Given the description of an element on the screen output the (x, y) to click on. 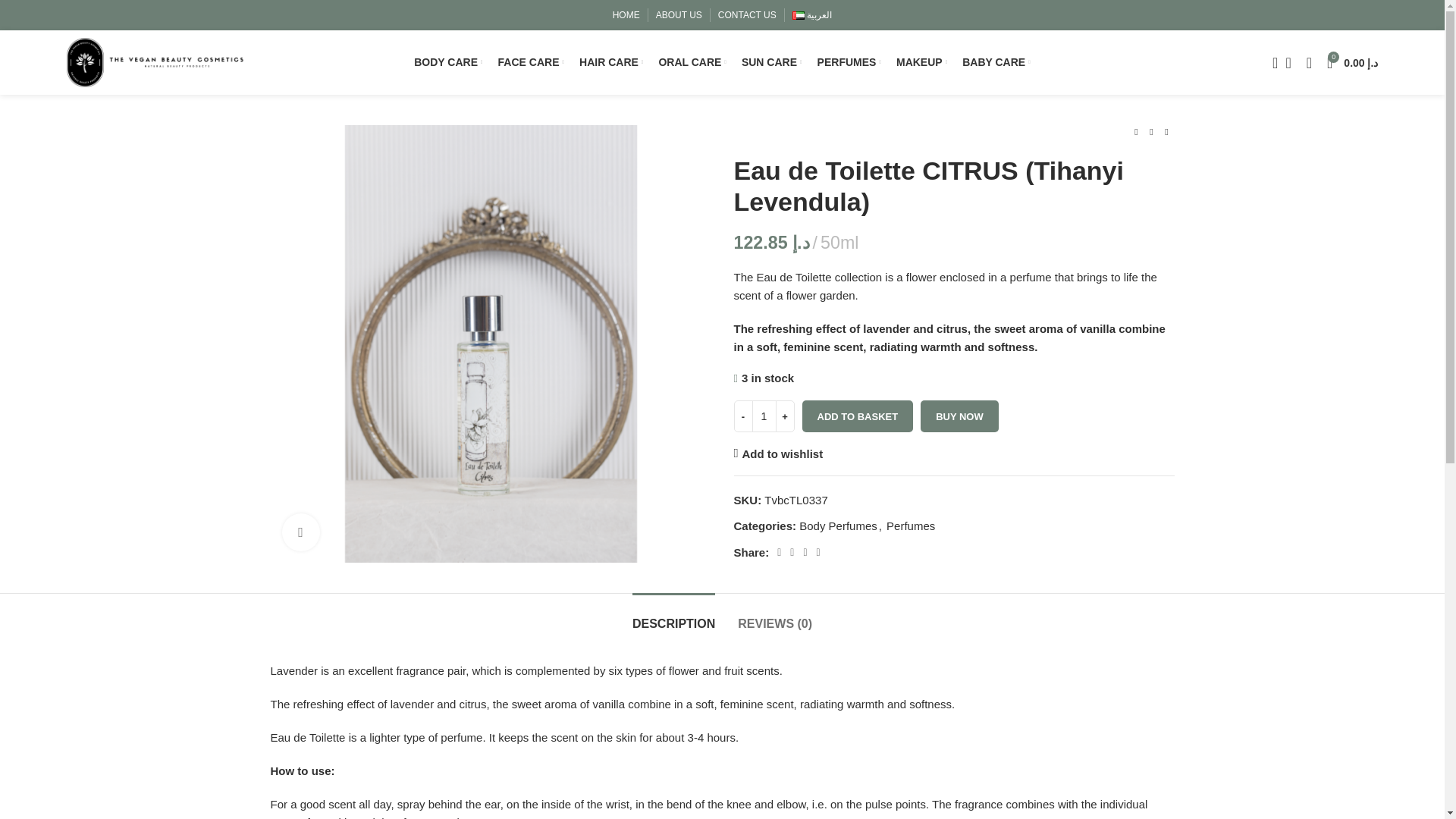
Shopping cart (1352, 61)
FACE CARE (530, 61)
CONTACT US (746, 15)
ABOUT US (678, 15)
BODY CARE (447, 61)
HAIR CARE (611, 61)
HOME (626, 15)
